Given the description of an element on the screen output the (x, y) to click on. 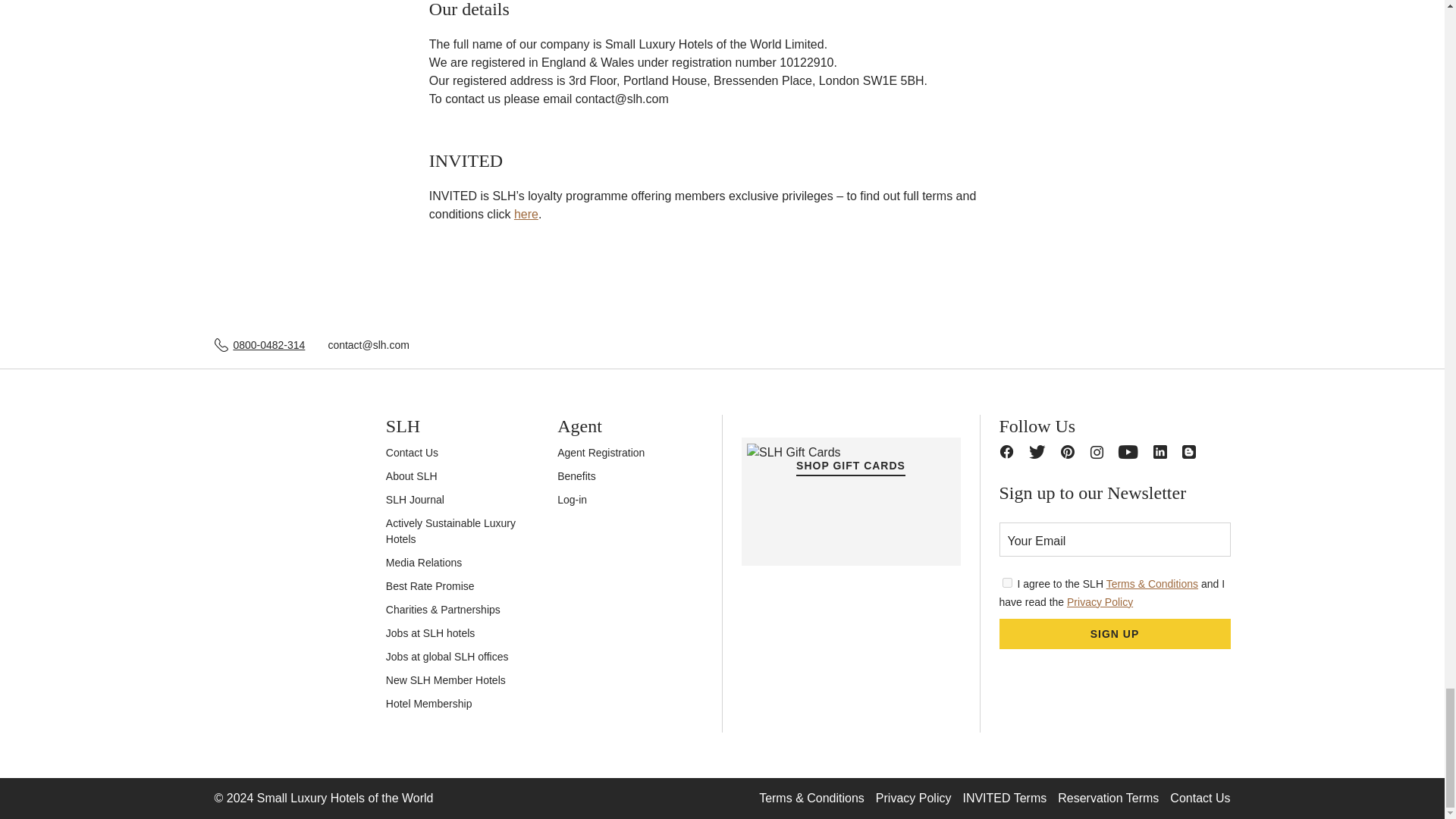
Best Rate Promise (429, 585)
Contact Us (411, 452)
Sign up (1114, 634)
About SLH (411, 476)
Actively Sustainable Luxury Hotels (450, 530)
here (525, 214)
SLH Journal (414, 499)
0800-0482-314 (268, 344)
Media Relations (423, 562)
PrivacyPolicy (1007, 583)
